Given the description of an element on the screen output the (x, y) to click on. 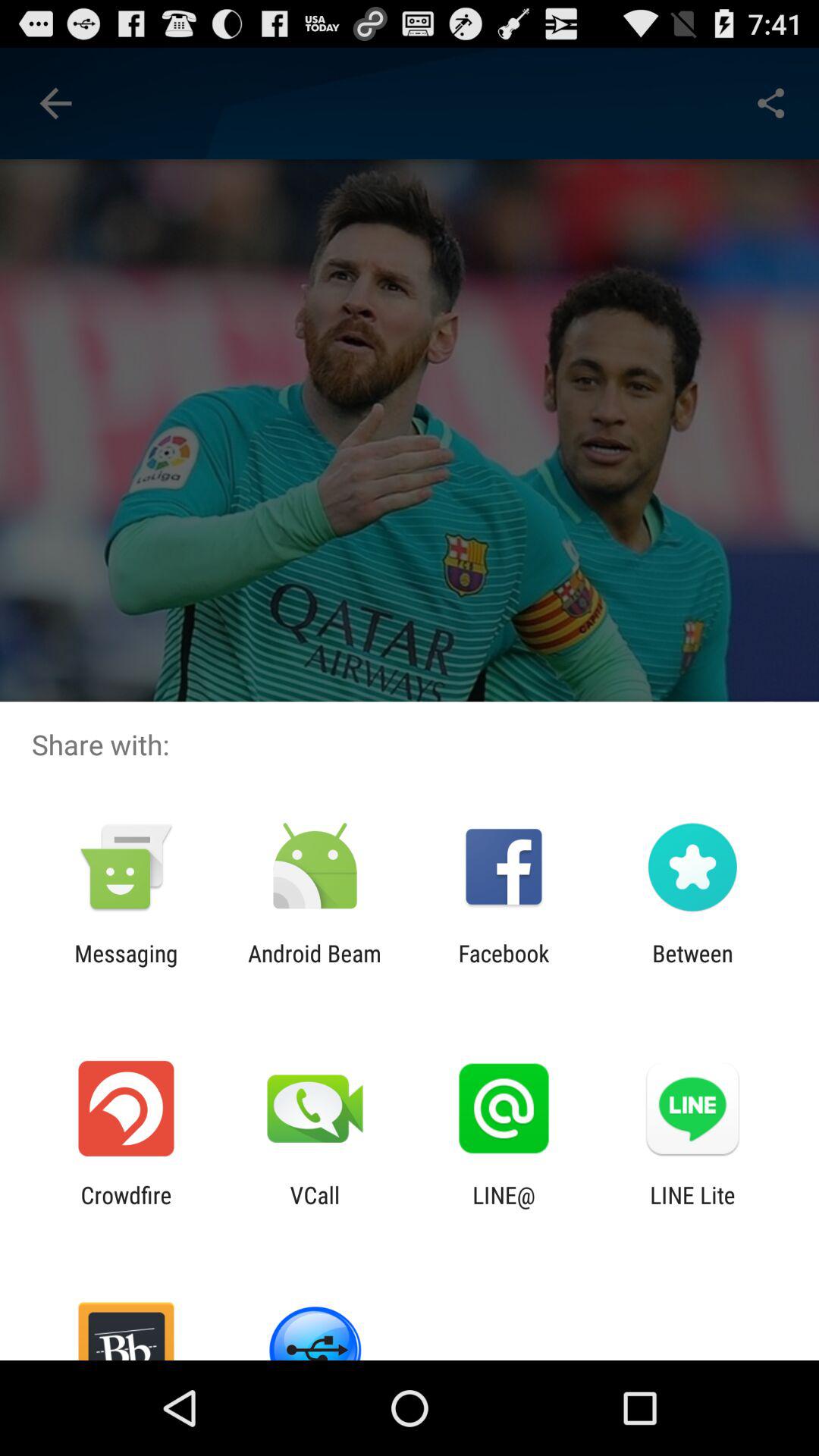
swipe to the vcall item (315, 1208)
